Given the description of an element on the screen output the (x, y) to click on. 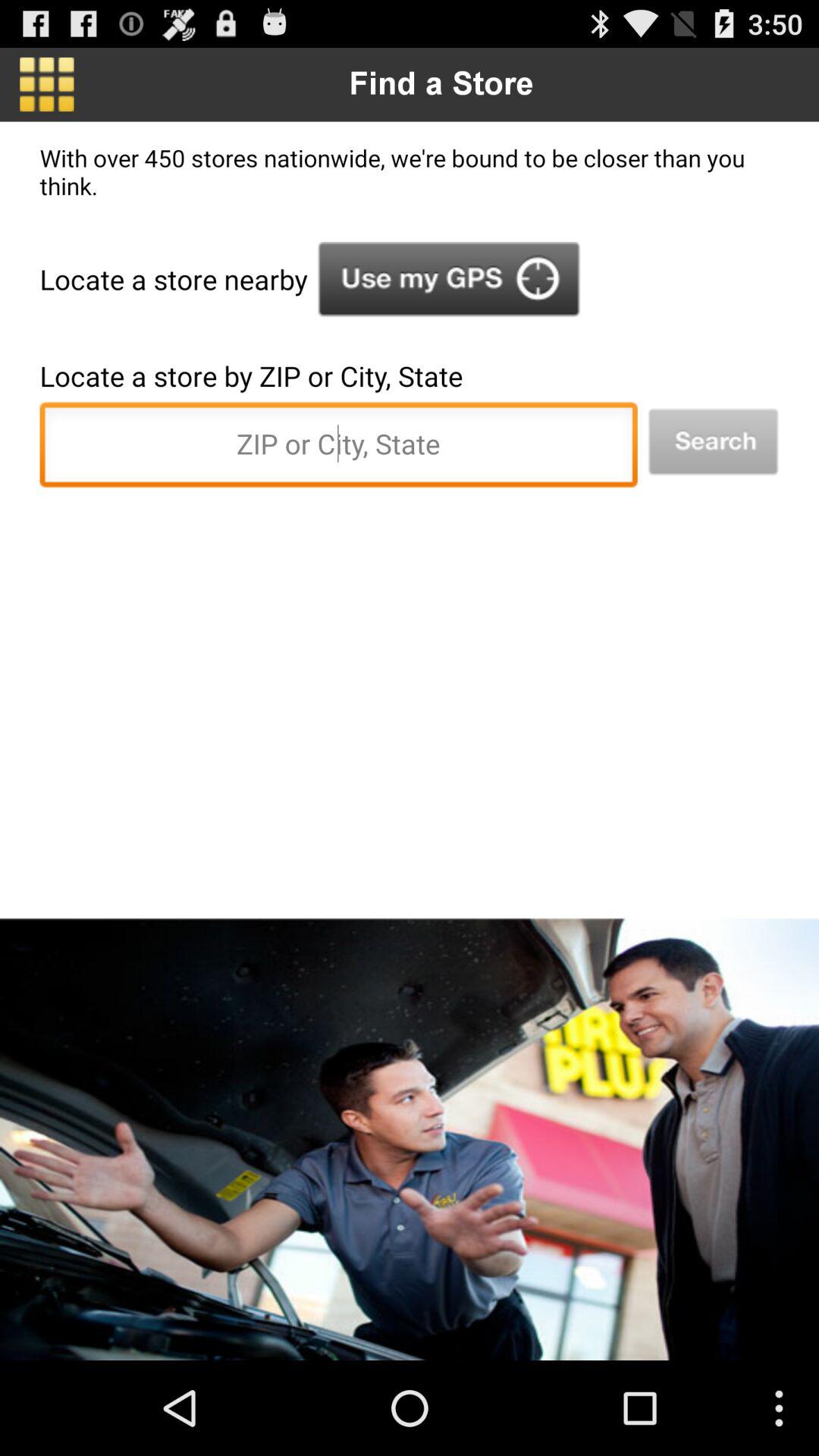
select the apps icon (46, 84)
